Given the description of an element on the screen output the (x, y) to click on. 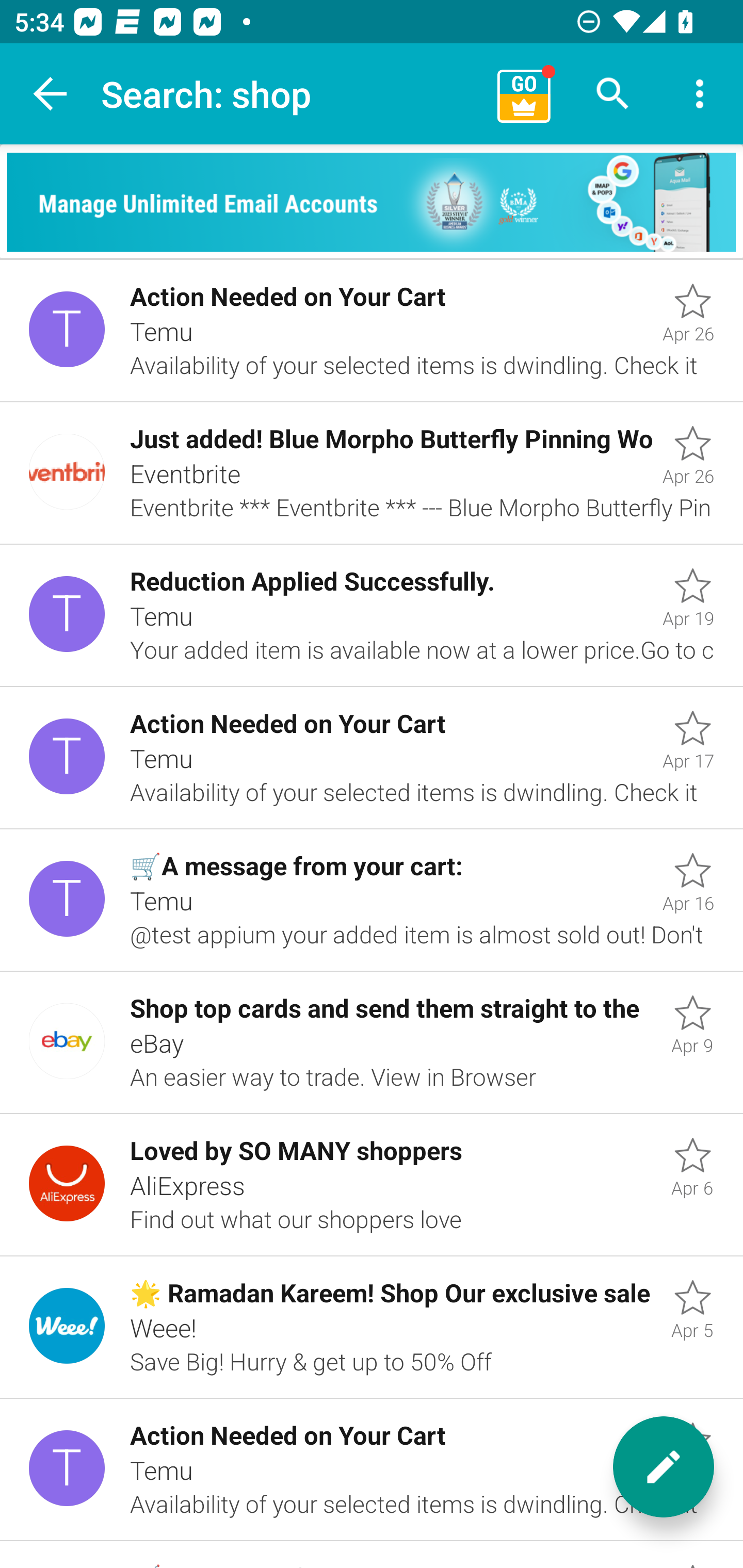
Navigate up (50, 93)
Search (612, 93)
More options (699, 93)
New message (663, 1466)
